Given the description of an element on the screen output the (x, y) to click on. 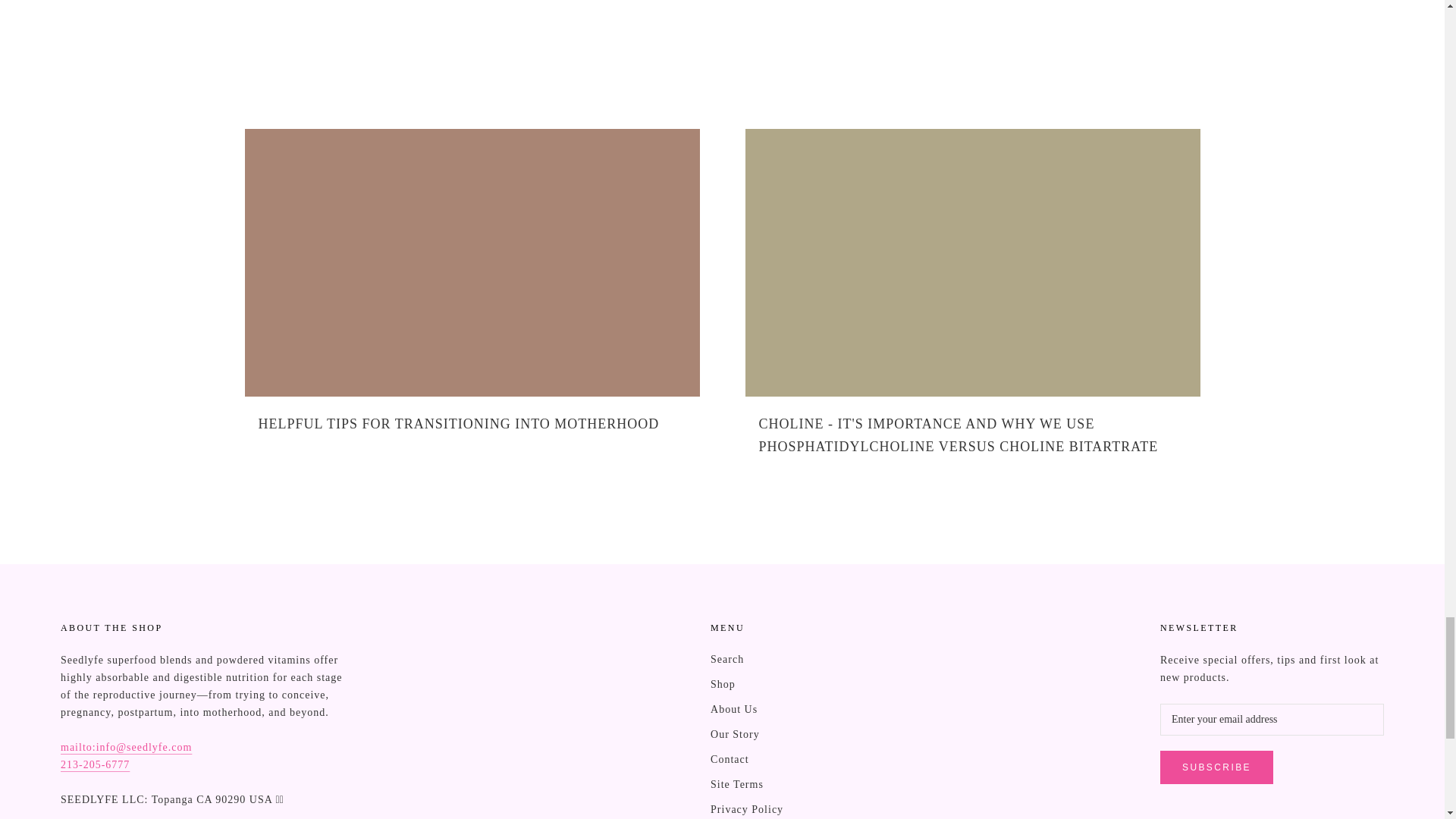
tel:310-795-9995 (95, 764)
